Given the description of an element on the screen output the (x, y) to click on. 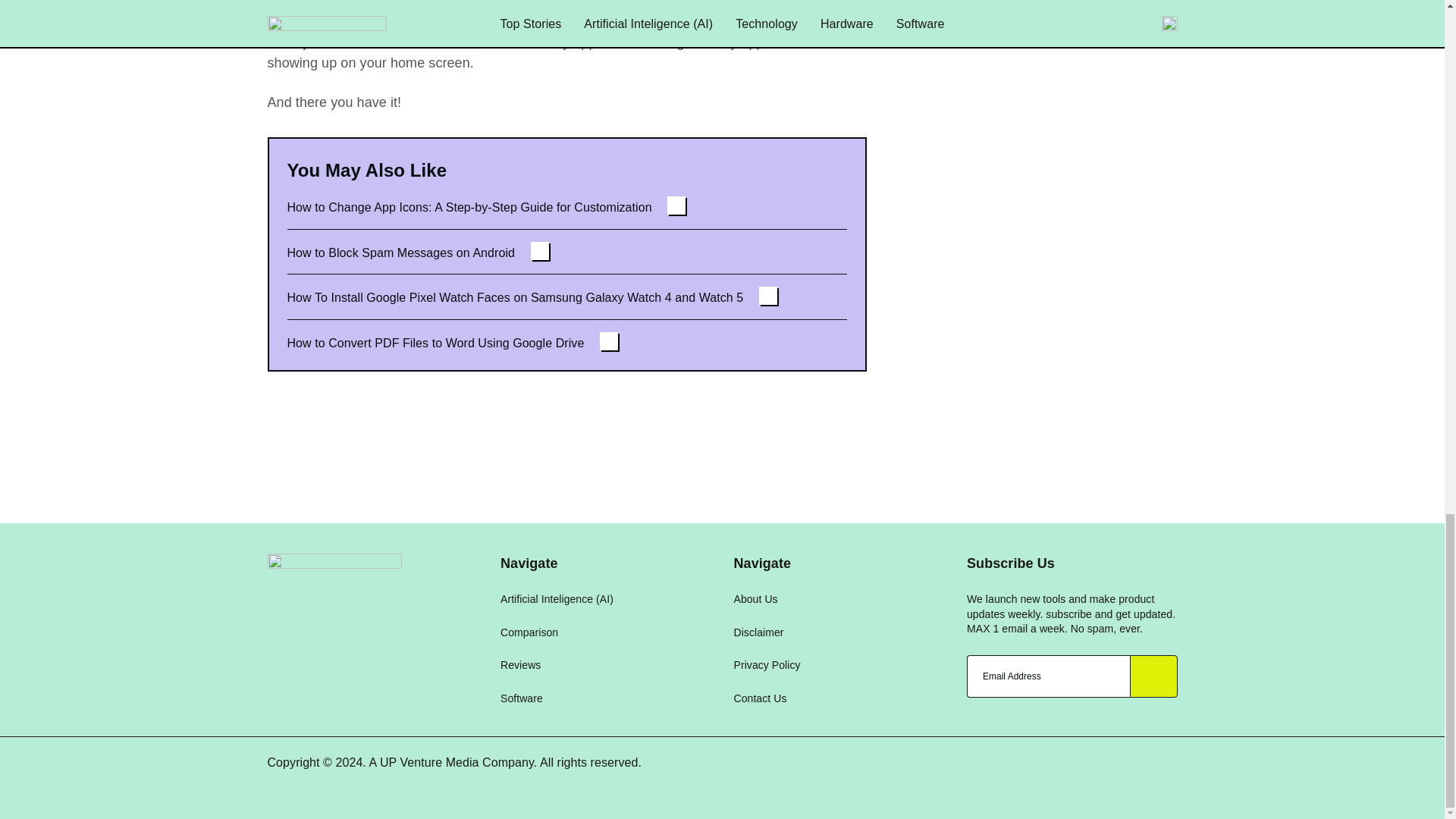
How To Delete Apps From Your Android Device 3 (287, 7)
How to Convert PDF Files to Word Using Google Drive (451, 336)
How to Block Spam Messages on Android (417, 251)
